Given the description of an element on the screen output the (x, y) to click on. 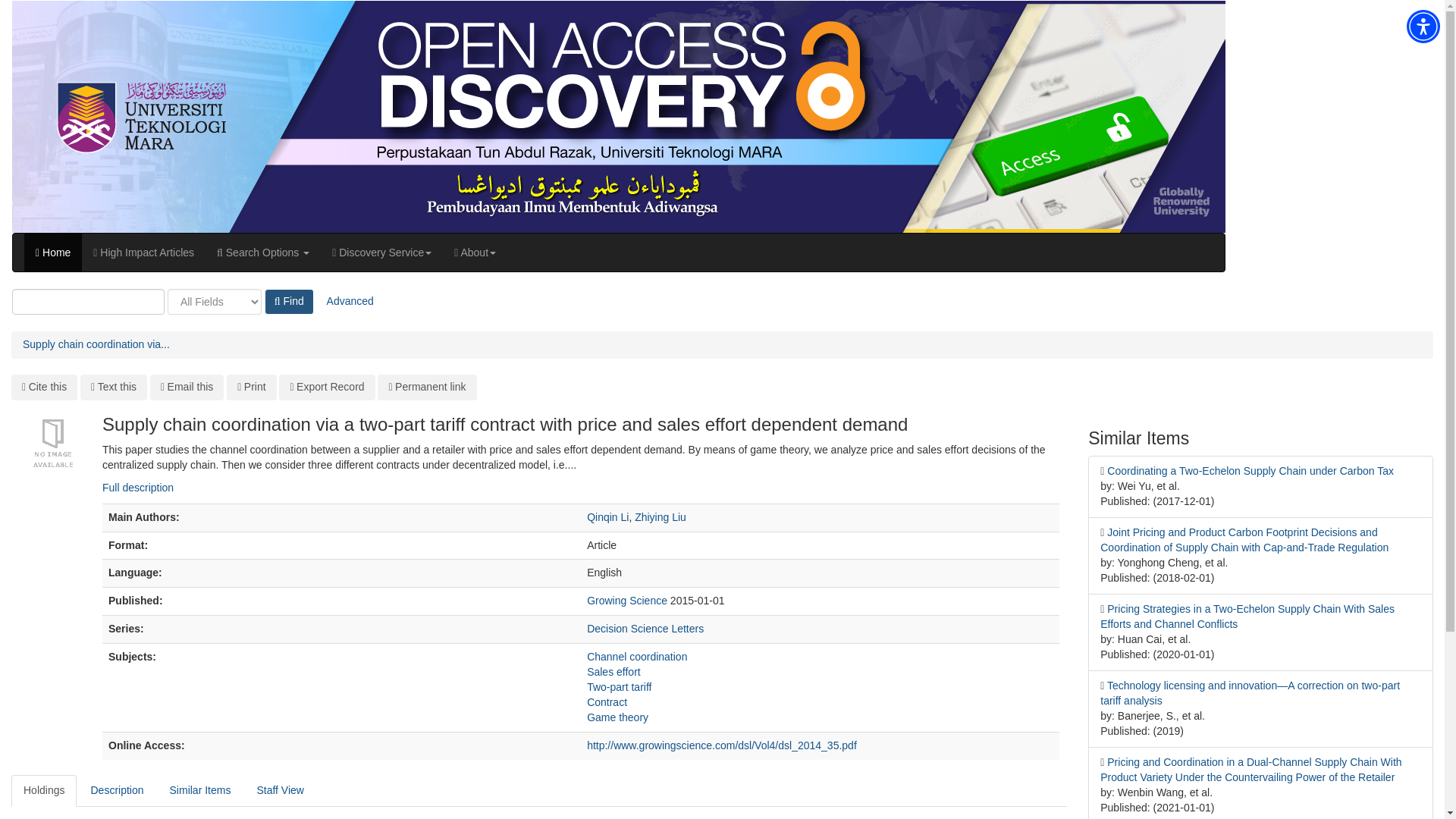
Accessibility Menu (1422, 26)
Cite this (44, 387)
Print (251, 387)
High Impact Articles (143, 252)
Full description (137, 487)
Channel coordination (636, 656)
Home (52, 252)
Search Options (262, 252)
Email this (186, 387)
Game theory (616, 717)
About (474, 252)
Two-part tariff (618, 686)
Discovery Service (381, 252)
Find (289, 301)
Skip to content (34, 7)
